Given the description of an element on the screen output the (x, y) to click on. 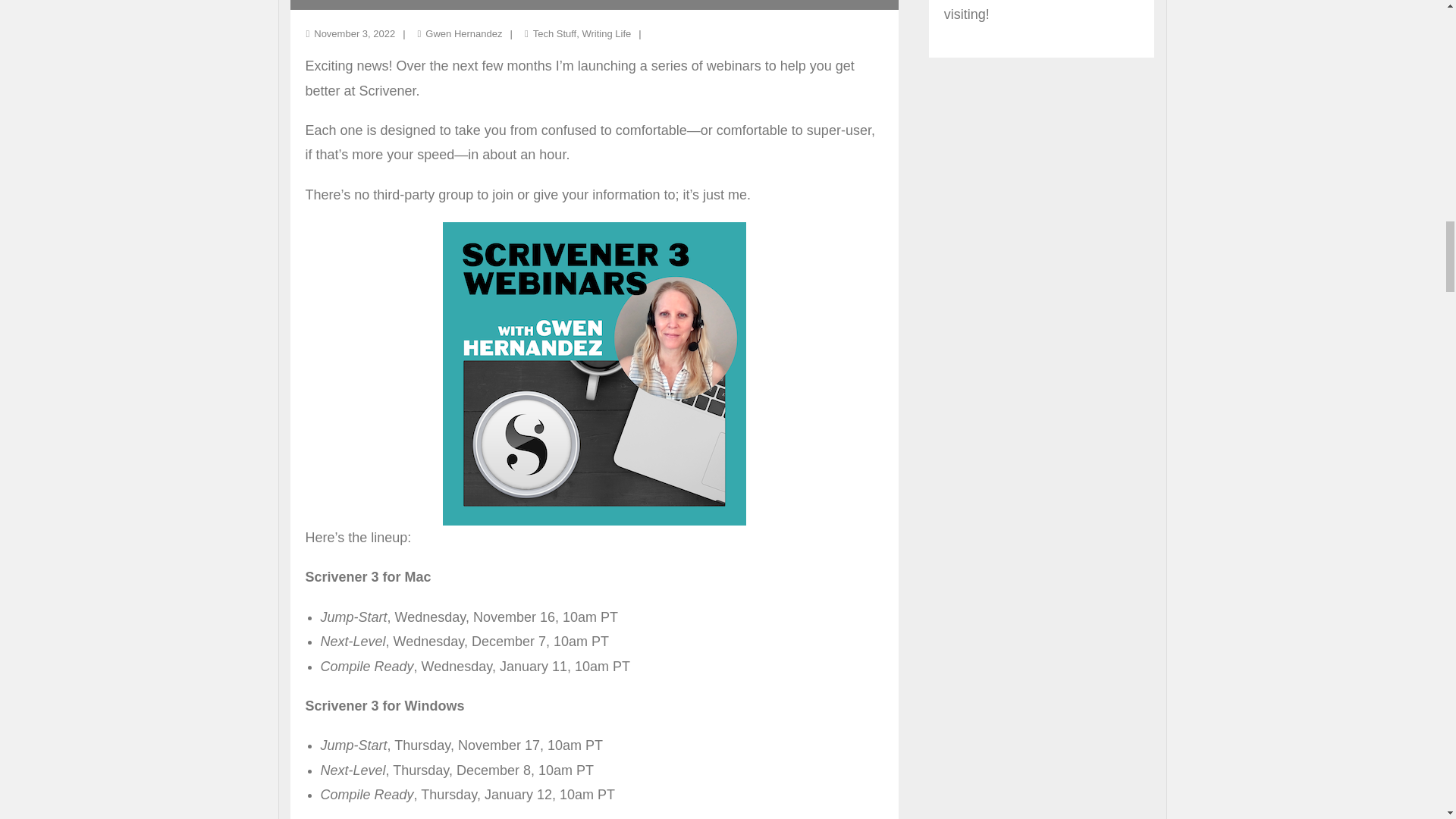
View all posts by Gwen Hernandez (463, 33)
New Scrivener webinars (354, 33)
